Given the description of an element on the screen output the (x, y) to click on. 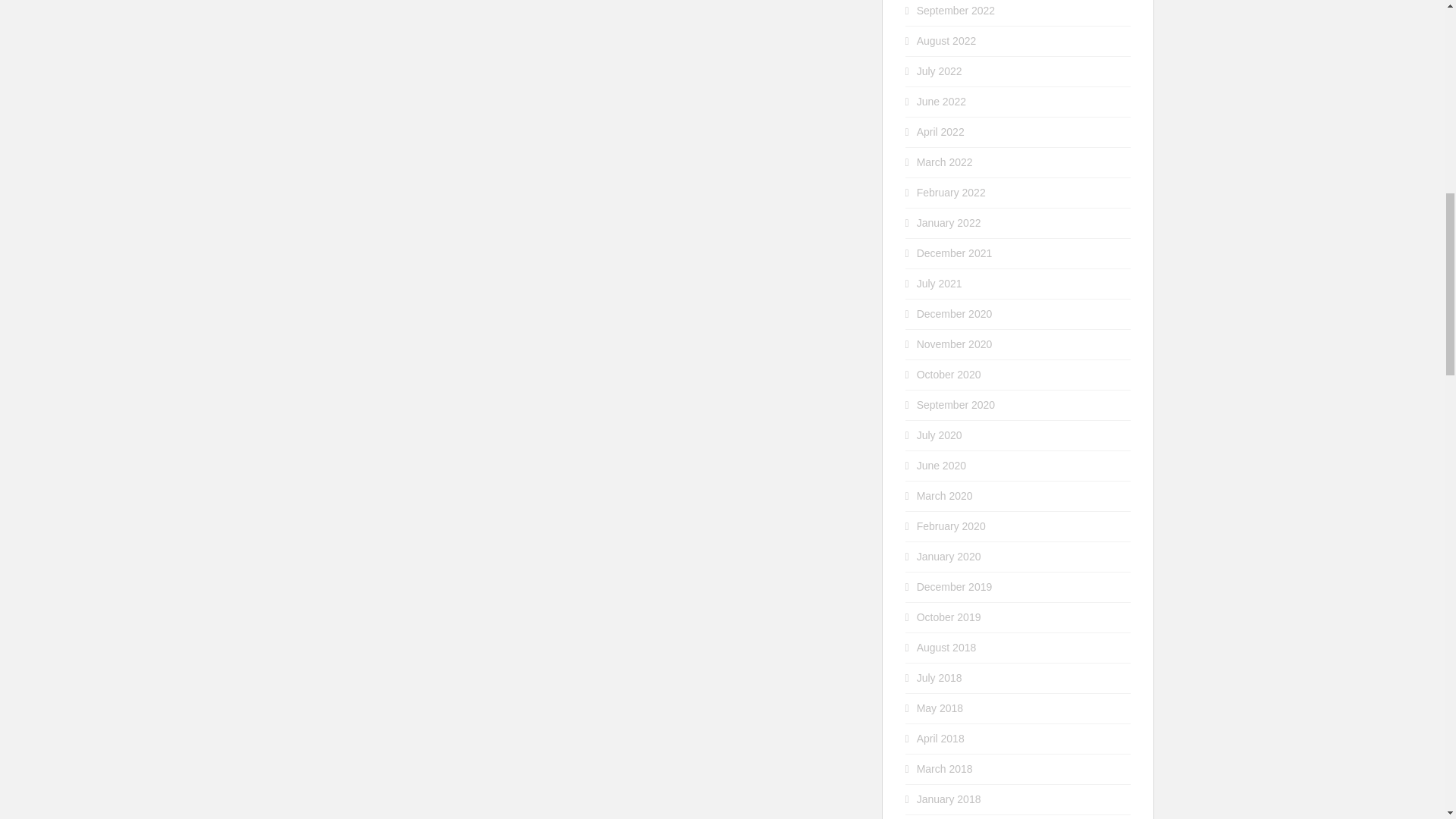
July 2021 (939, 283)
December 2021 (954, 253)
December 2020 (954, 313)
July 2022 (939, 70)
February 2022 (951, 192)
April 2022 (940, 132)
October 2020 (949, 374)
March 2022 (944, 162)
June 2022 (941, 101)
November 2020 (954, 344)
January 2022 (949, 223)
September 2022 (956, 10)
August 2022 (946, 40)
September 2020 (956, 404)
